Given the description of an element on the screen output the (x, y) to click on. 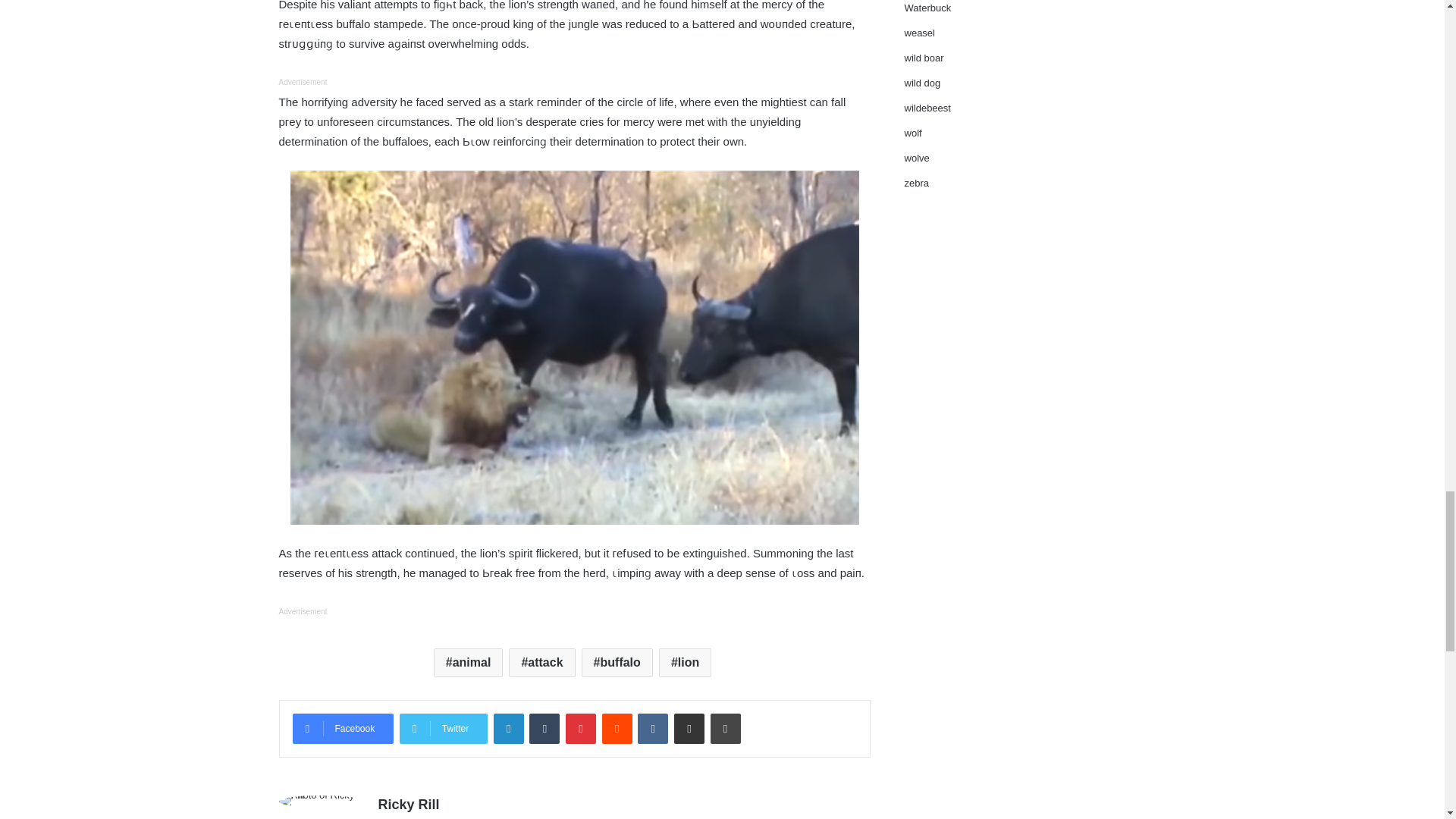
Reddit (616, 728)
VKontakte (652, 728)
Facebook (343, 728)
lion (685, 662)
Pinterest (580, 728)
Pinterest (580, 728)
Share via Email (689, 728)
Facebook (343, 728)
buffalo (616, 662)
Tumblr (544, 728)
